Given the description of an element on the screen output the (x, y) to click on. 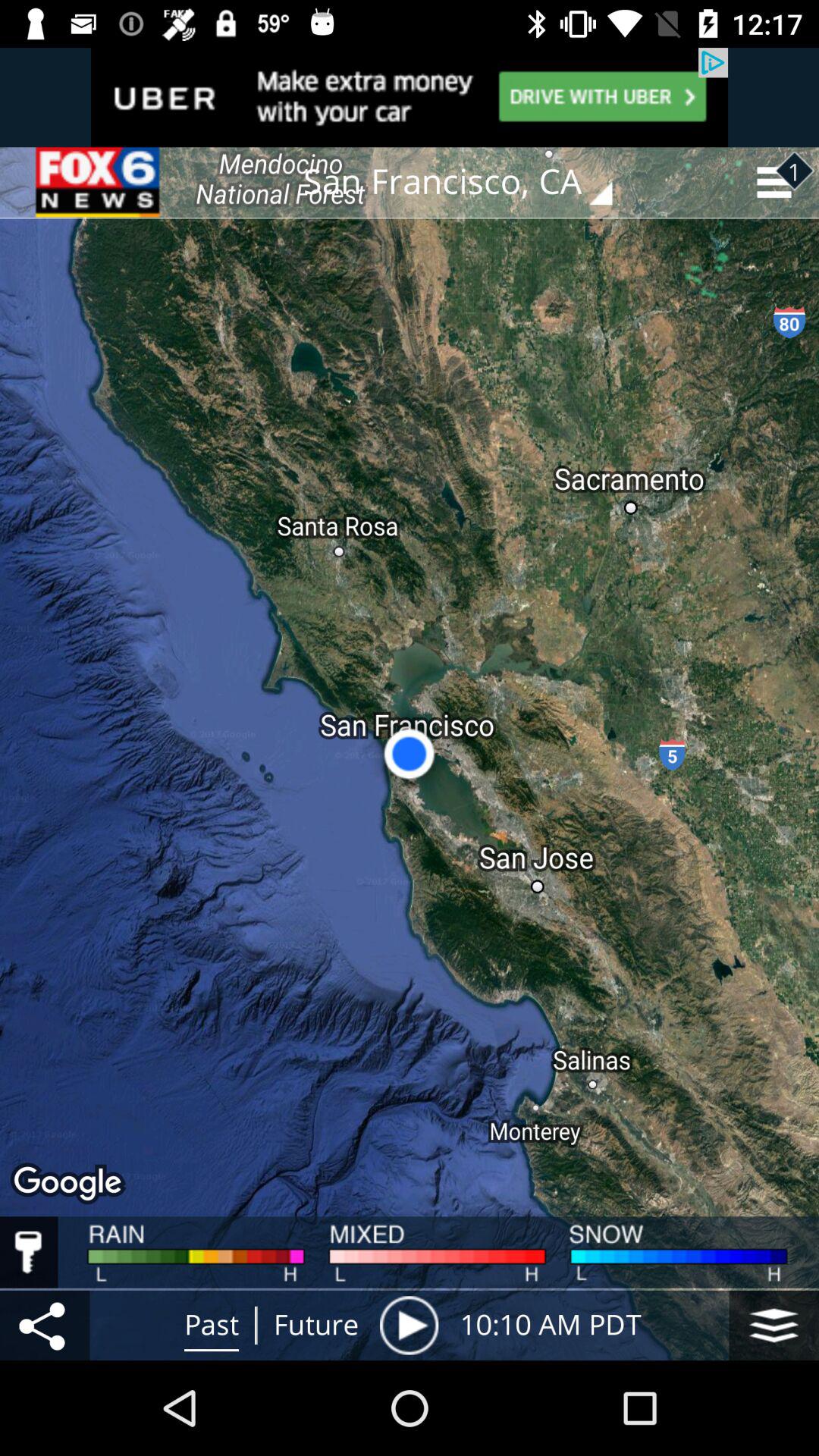
open icon next to the 10 10 am (409, 1325)
